Given the description of an element on the screen output the (x, y) to click on. 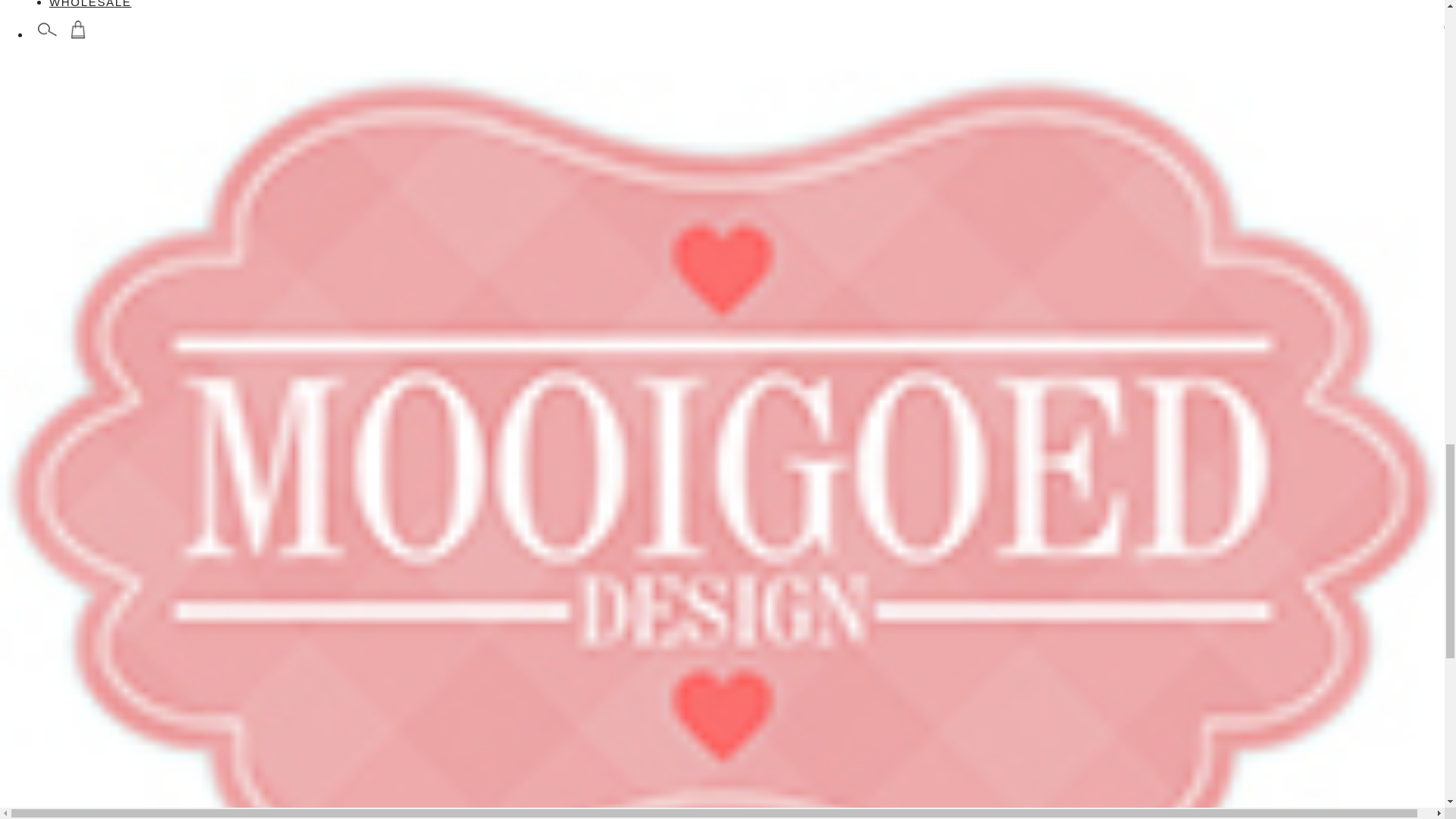
WHOLESALE (90, 4)
Shop the Mooigoed Design products (77, 29)
0 (74, 30)
Search the Mooigoed Design products (46, 29)
